Given the description of an element on the screen output the (x, y) to click on. 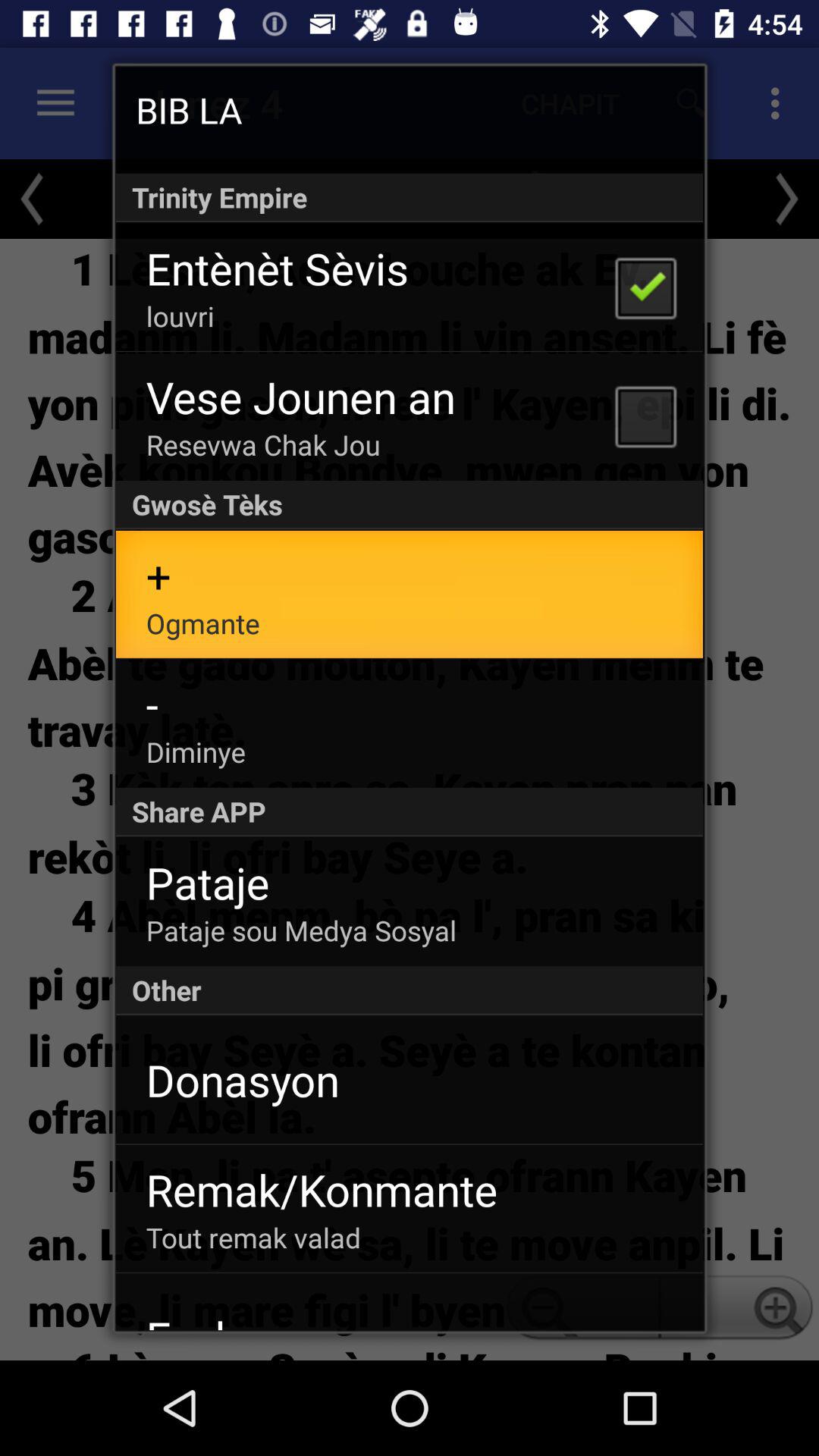
launch the icon above the + (409, 504)
